Given the description of an element on the screen output the (x, y) to click on. 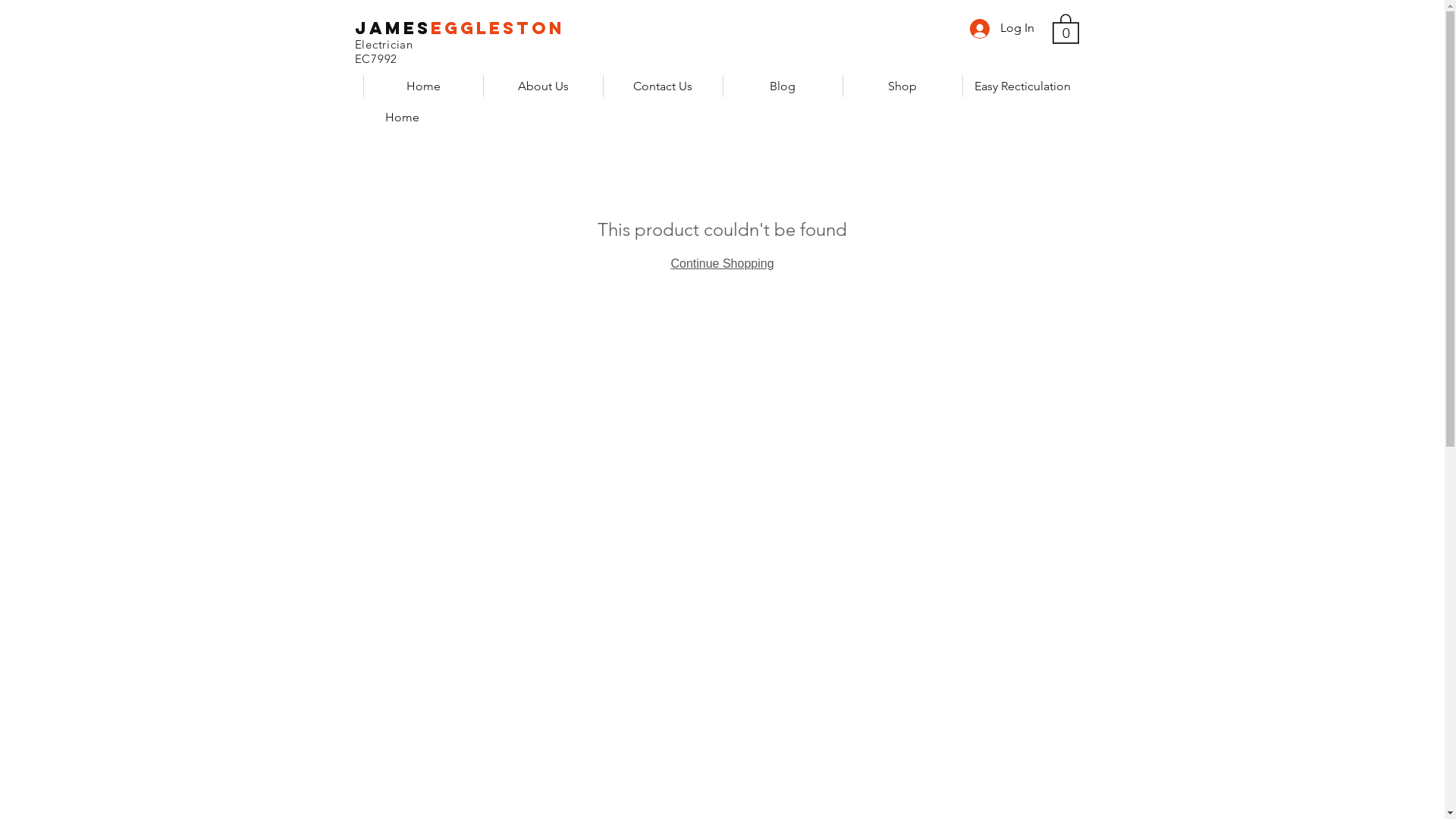
Home Element type: text (402, 116)
JamesEggleston Element type: text (459, 27)
0 Element type: text (1065, 27)
Home Element type: text (422, 86)
Electrician                              EC7992 Element type: text (435, 51)
Easy Recticulation Element type: text (1021, 86)
Blog Element type: text (781, 86)
Shop Element type: text (901, 86)
Log In Element type: text (1001, 27)
Contact Us Element type: text (661, 86)
About Us Element type: text (542, 86)
Continue Shopping Element type: text (721, 263)
